Given the description of an element on the screen output the (x, y) to click on. 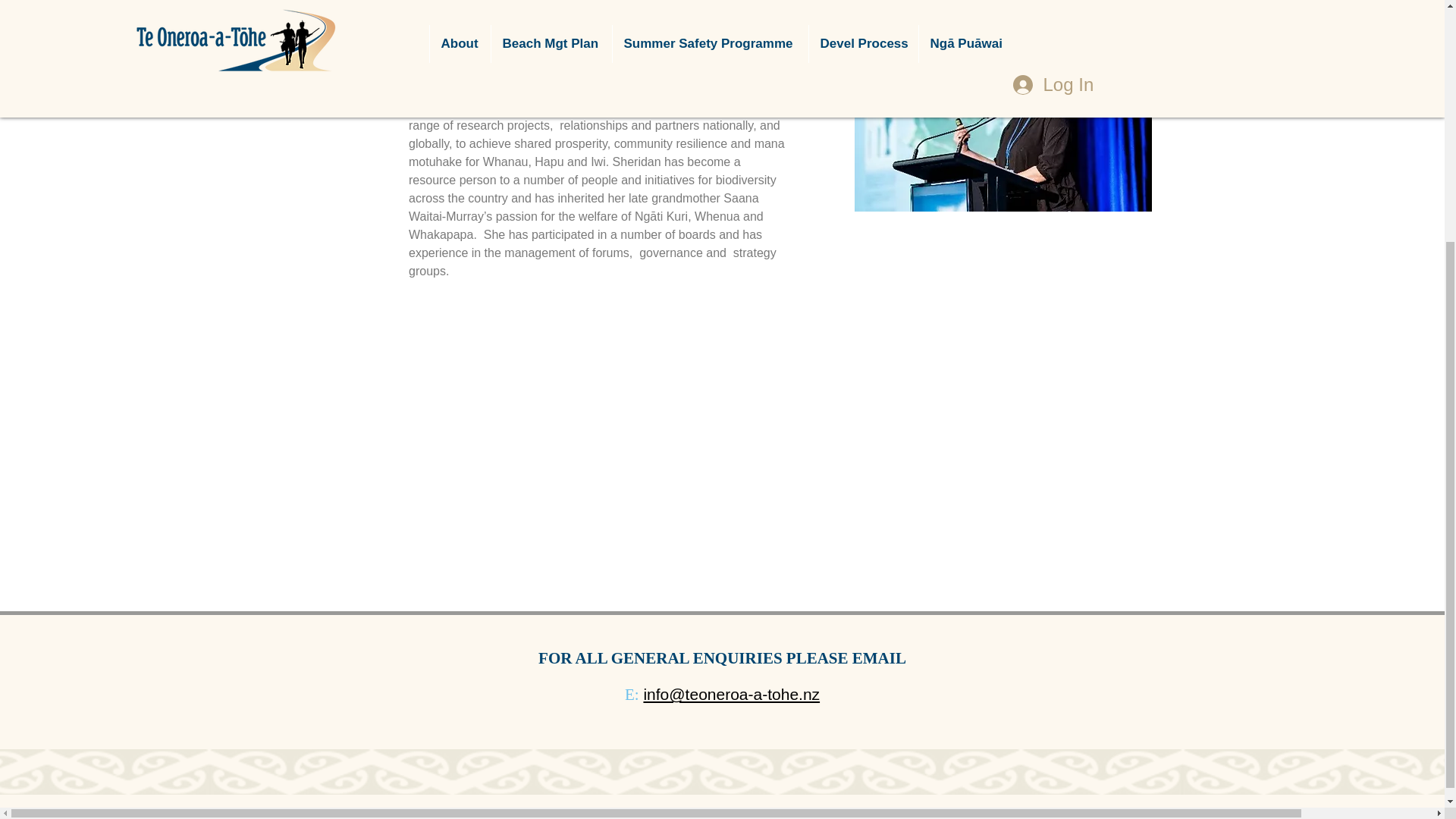
Sheridan profile.jpg (1002, 105)
